Given the description of an element on the screen output the (x, y) to click on. 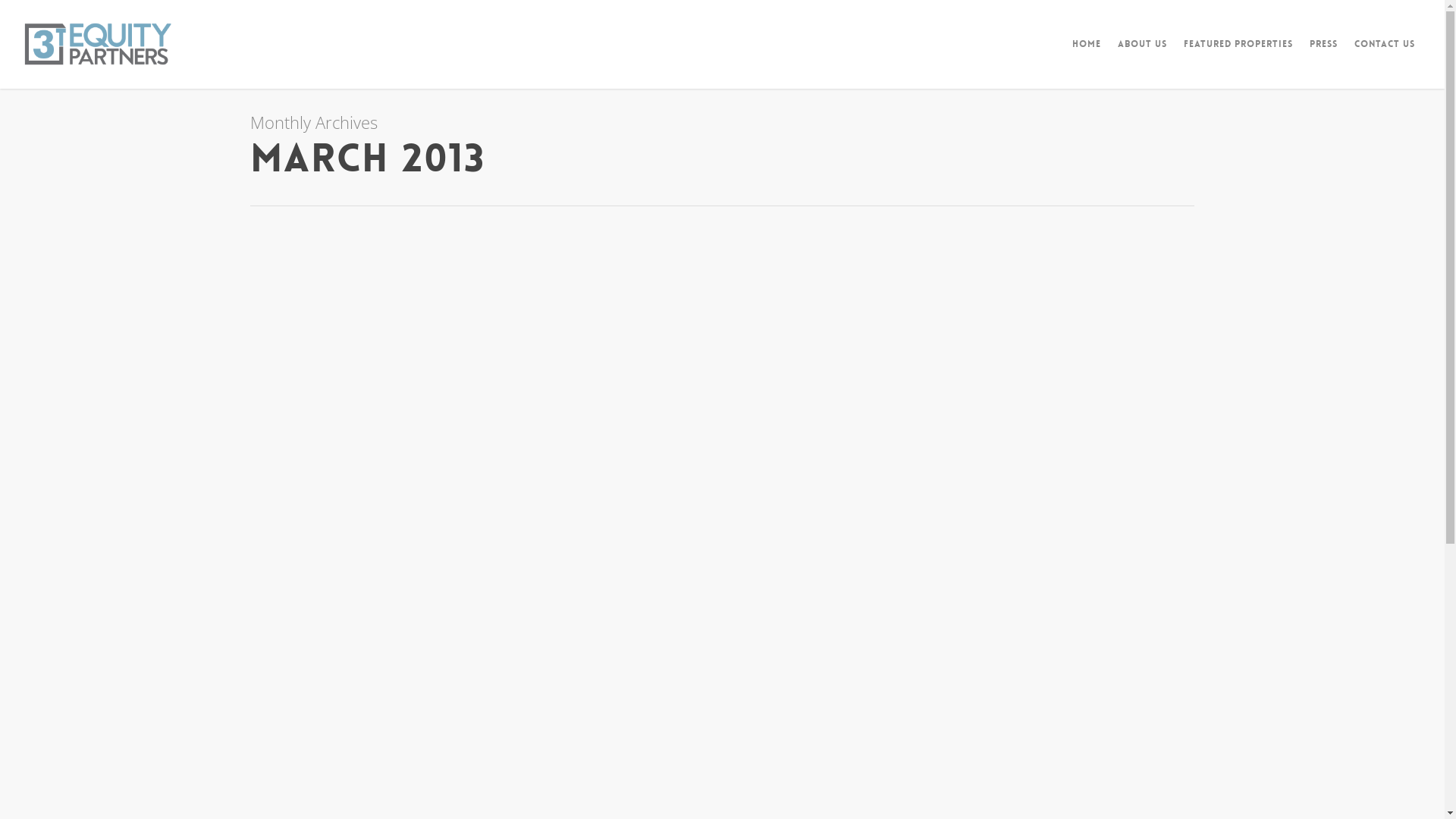
ABOUT US Element type: text (1142, 54)
PRESS Element type: text (1323, 54)
CONTACT US Element type: text (1384, 54)
FEATURED PROPERTIES Element type: text (1238, 54)
HOME Element type: text (1086, 54)
